Given the description of an element on the screen output the (x, y) to click on. 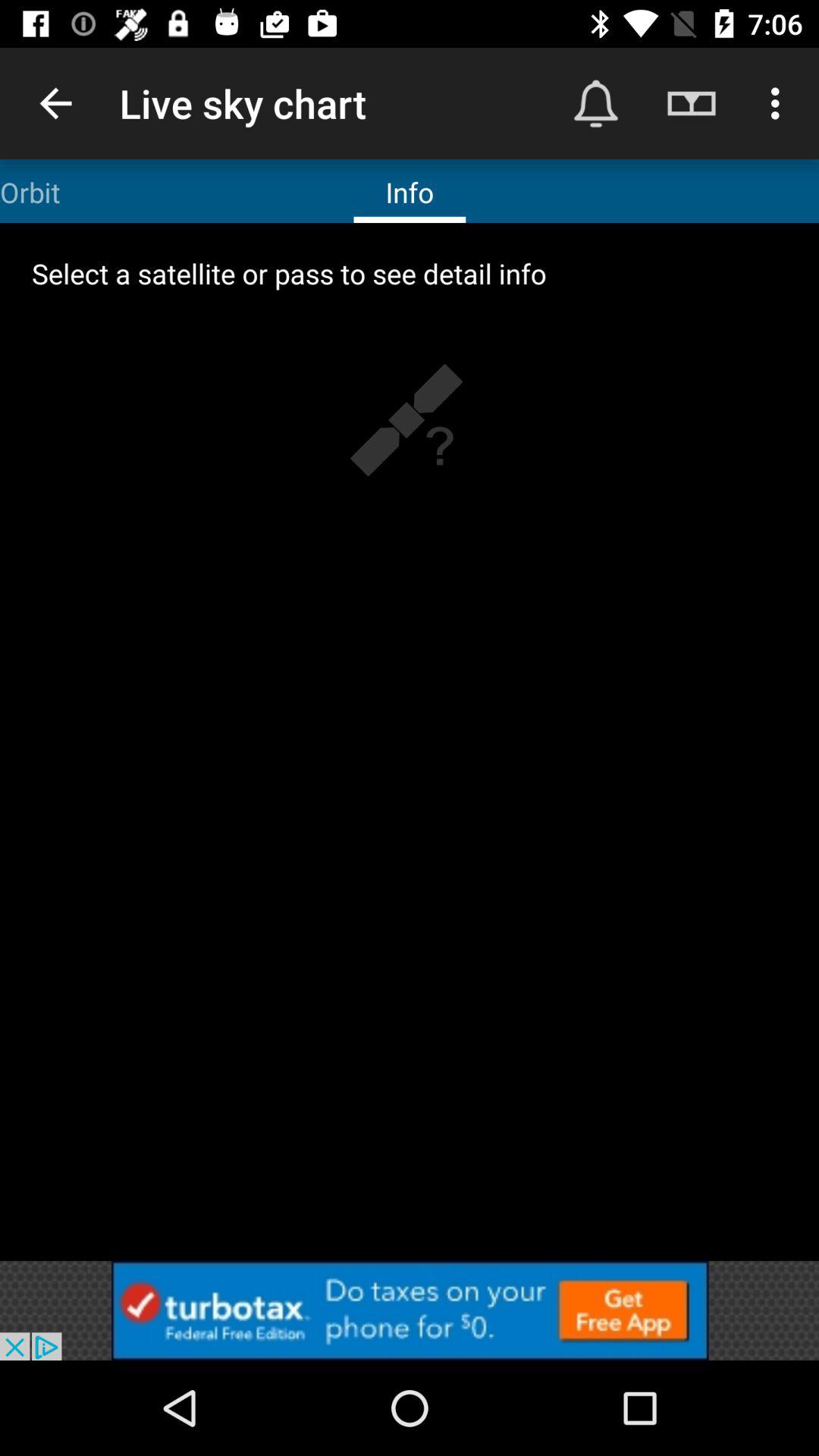
add more (409, 1310)
